Given the description of an element on the screen output the (x, y) to click on. 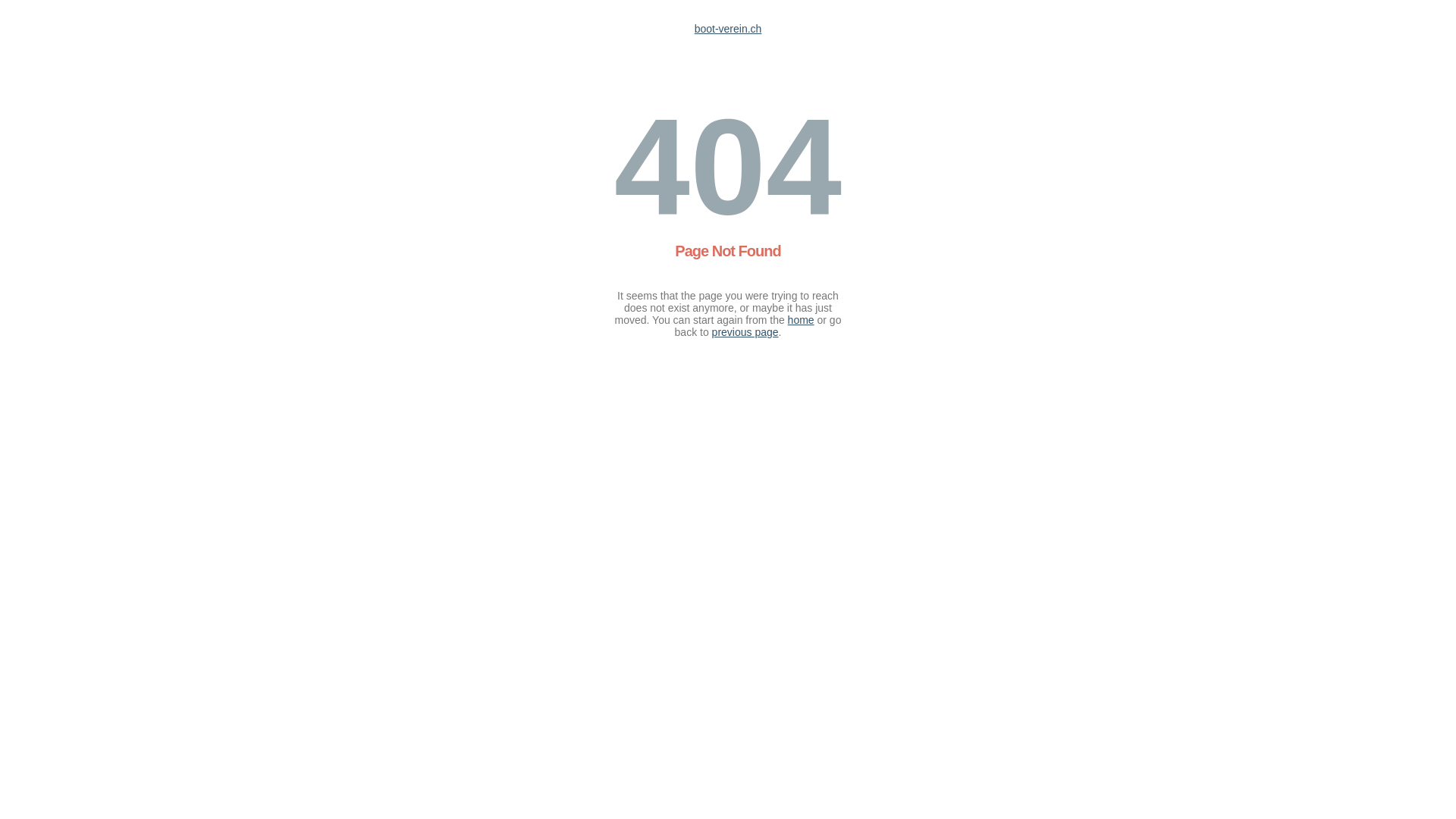
boot-verein.ch Element type: text (728, 28)
home Element type: text (800, 319)
previous page Element type: text (745, 332)
